Given the description of an element on the screen output the (x, y) to click on. 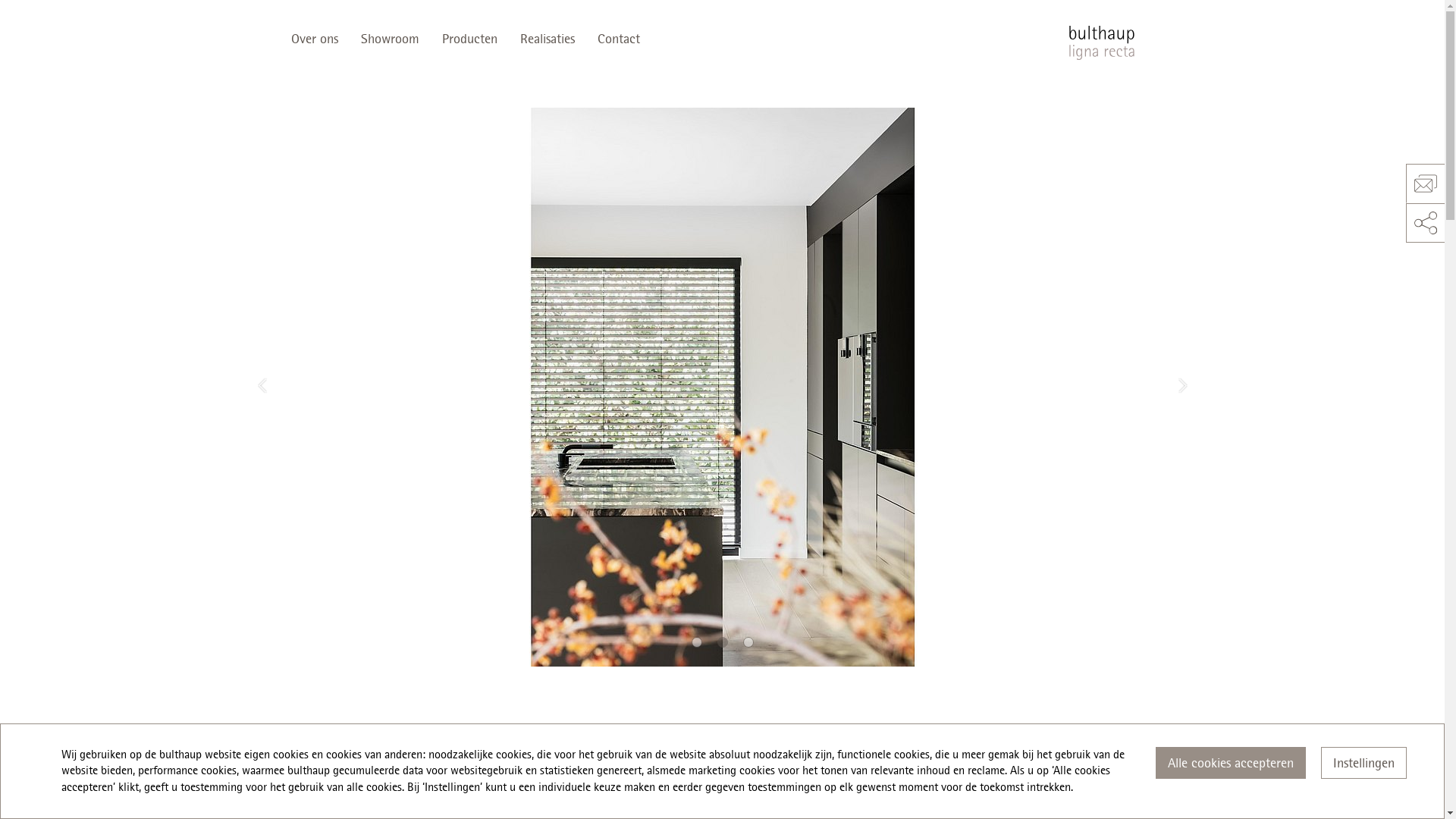
diashow of animatie stoppen Element type: hover (248, 131)
Alle cookies accepteren Element type: text (1230, 762)
Instellingen Element type: text (1363, 762)
share Element type: hover (1425, 222)
2 Element type: text (722, 642)
Showroom Element type: text (388, 38)
contact Element type: hover (1425, 183)
Previous Element type: text (262, 385)
Alle cookies accepteren Element type: text (1230, 762)
Producten Element type: text (469, 38)
1 Element type: text (696, 642)
3 Element type: text (748, 642)
Over ons Element type: text (320, 38)
Next Element type: text (1182, 385)
Contact Element type: text (617, 38)
Realisaties Element type: text (546, 38)
Instellingen Element type: text (1363, 762)
